Given the description of an element on the screen output the (x, y) to click on. 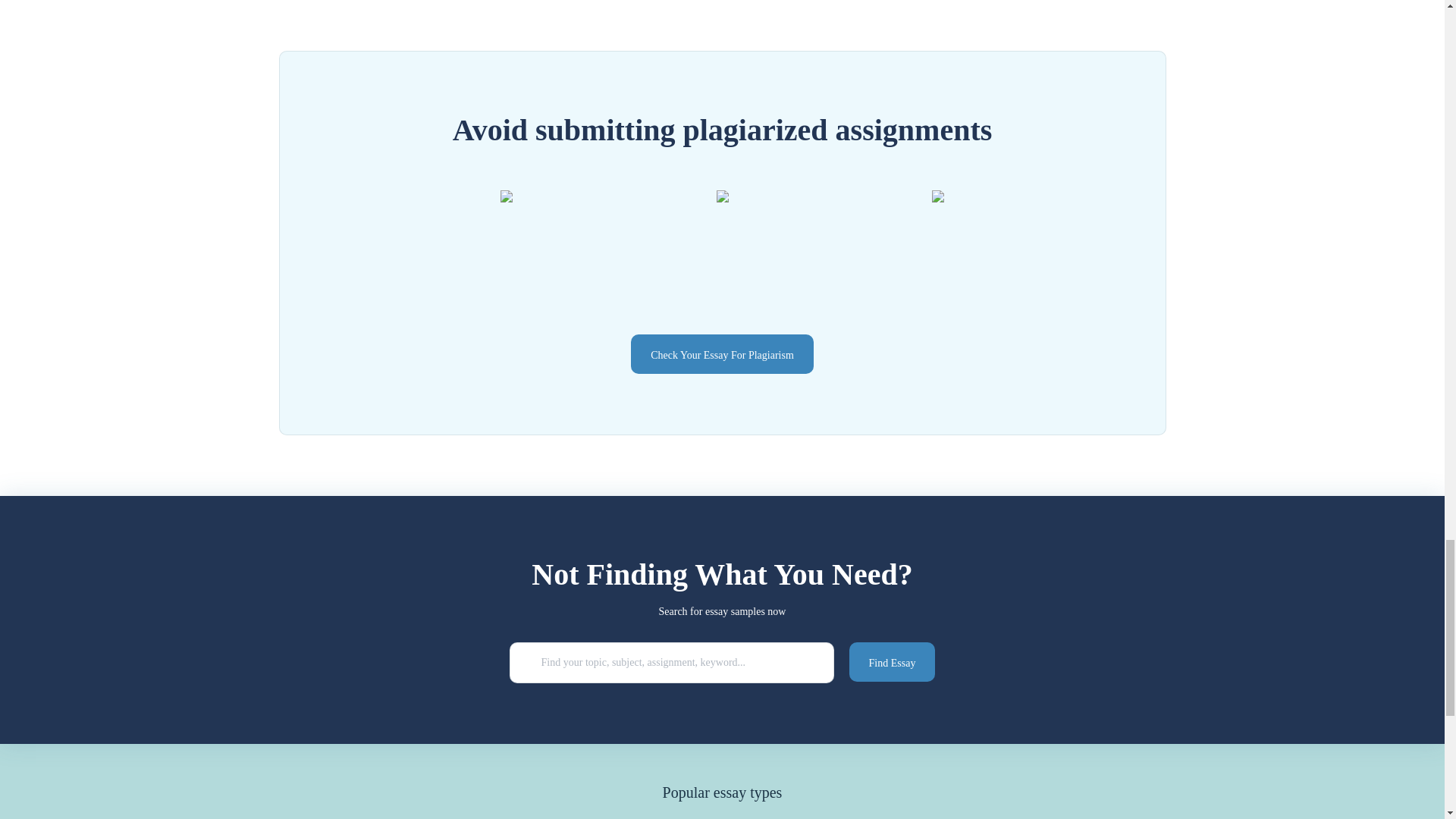
Check Your Essay For Plagiarism (721, 353)
Find Essay (892, 661)
